Given the description of an element on the screen output the (x, y) to click on. 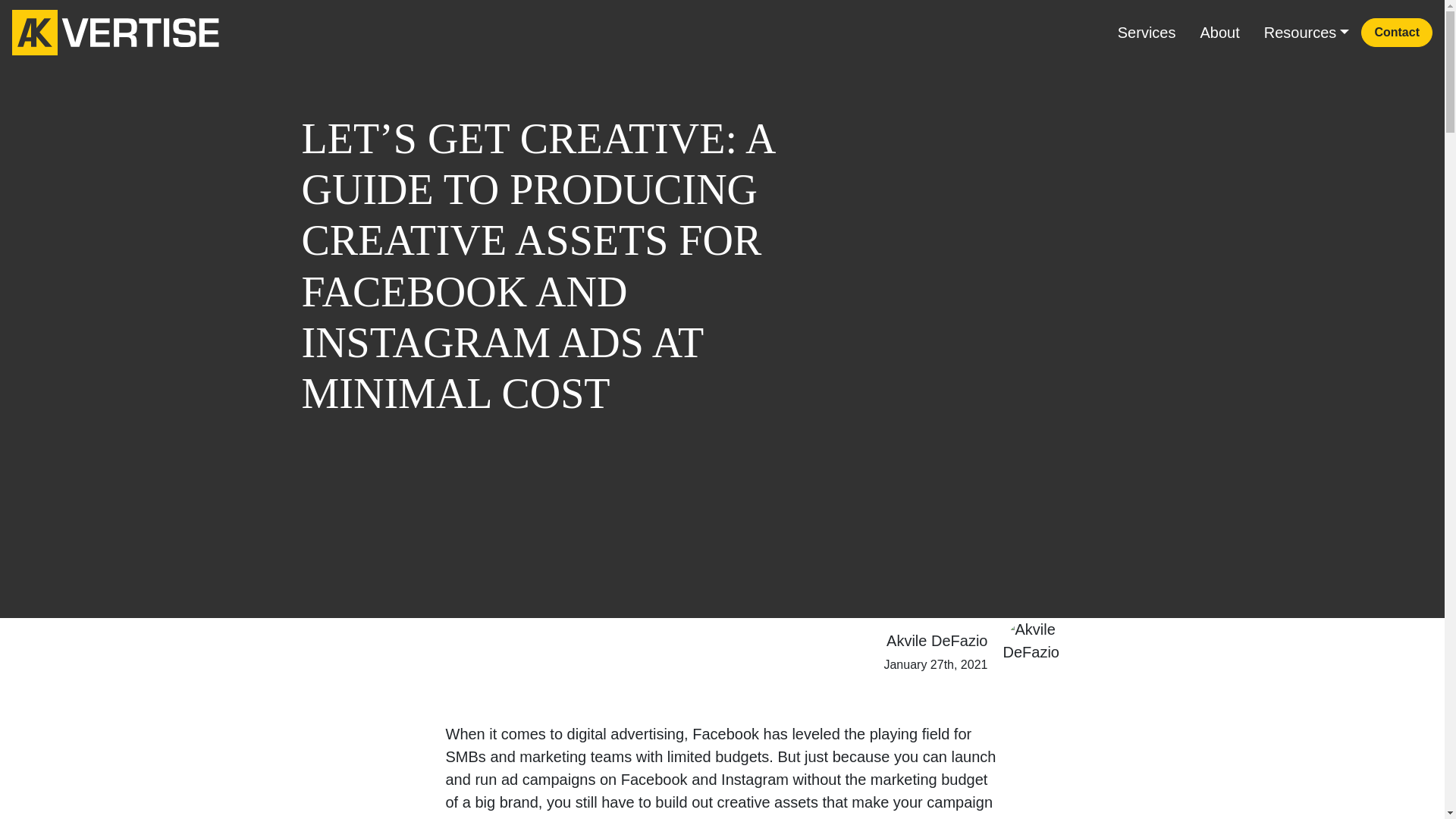
Services (1146, 32)
Resources (1306, 32)
Contact (1396, 32)
About (1219, 32)
